Given the description of an element on the screen output the (x, y) to click on. 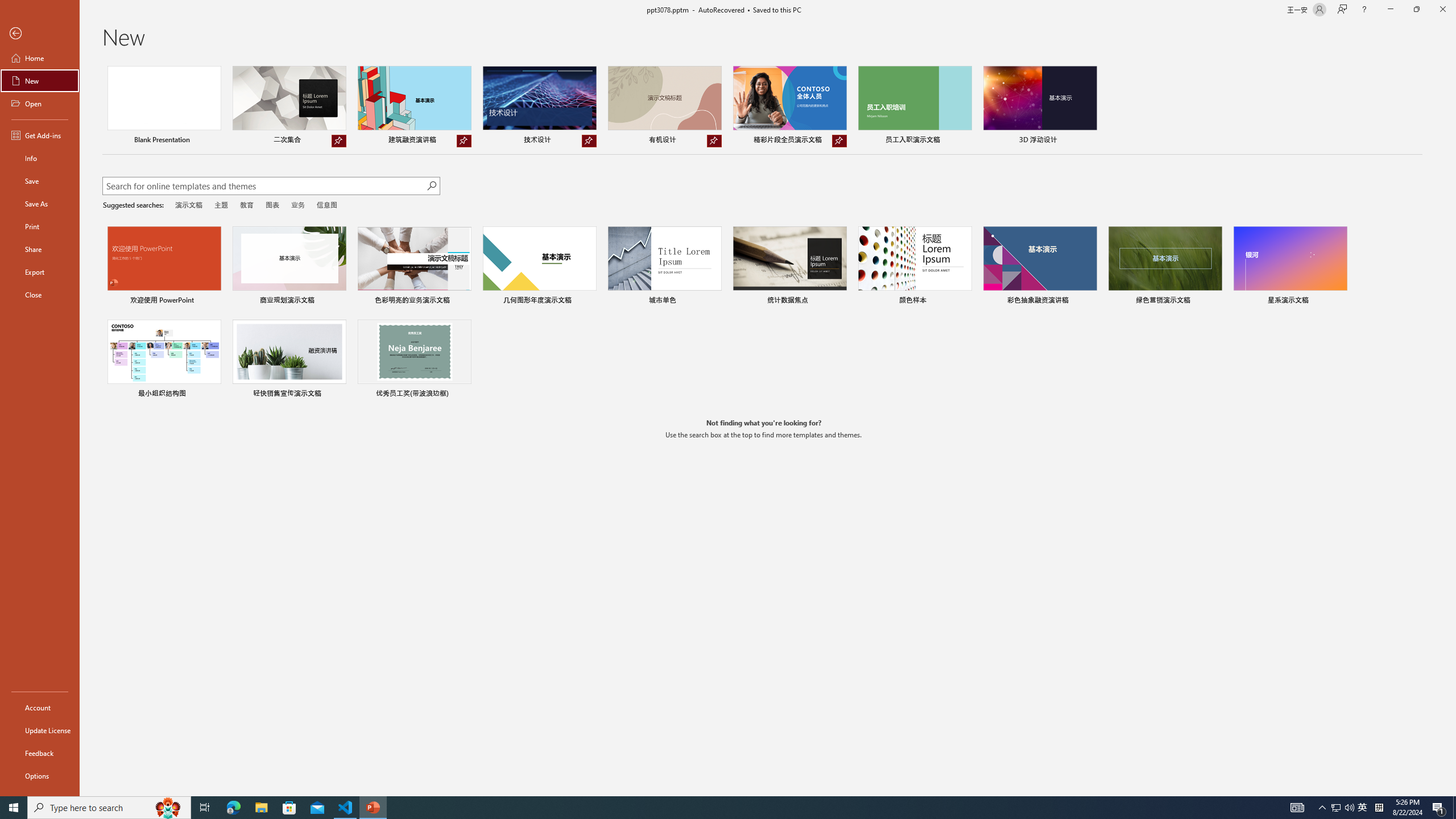
Blank Presentation (164, 106)
Save As (40, 203)
Unpin from list (839, 141)
New (40, 80)
